Given the description of an element on the screen output the (x, y) to click on. 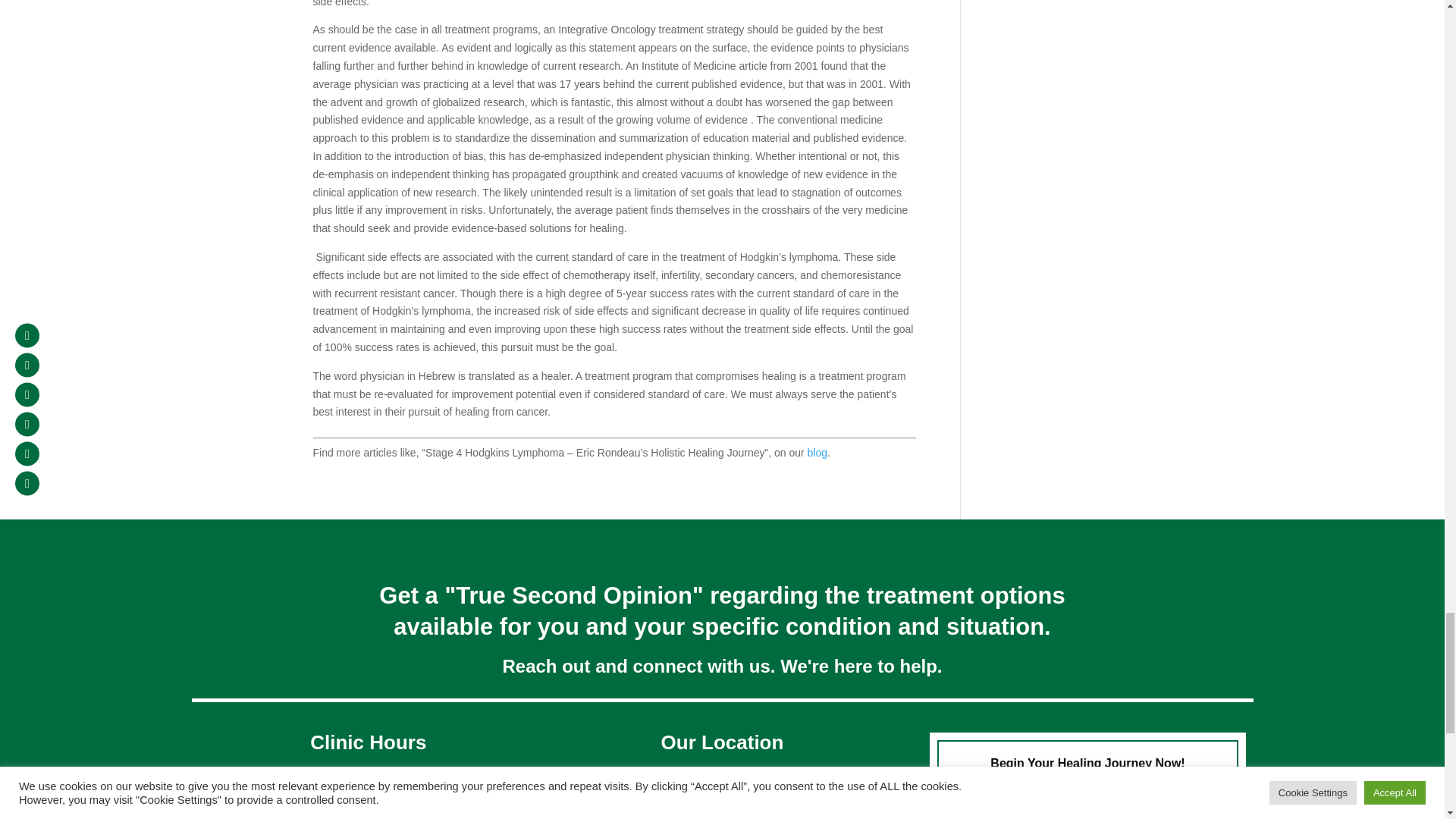
210 N. Center Street, Suite 102 Mesa, AZ 85201 (722, 816)
